Given the description of an element on the screen output the (x, y) to click on. 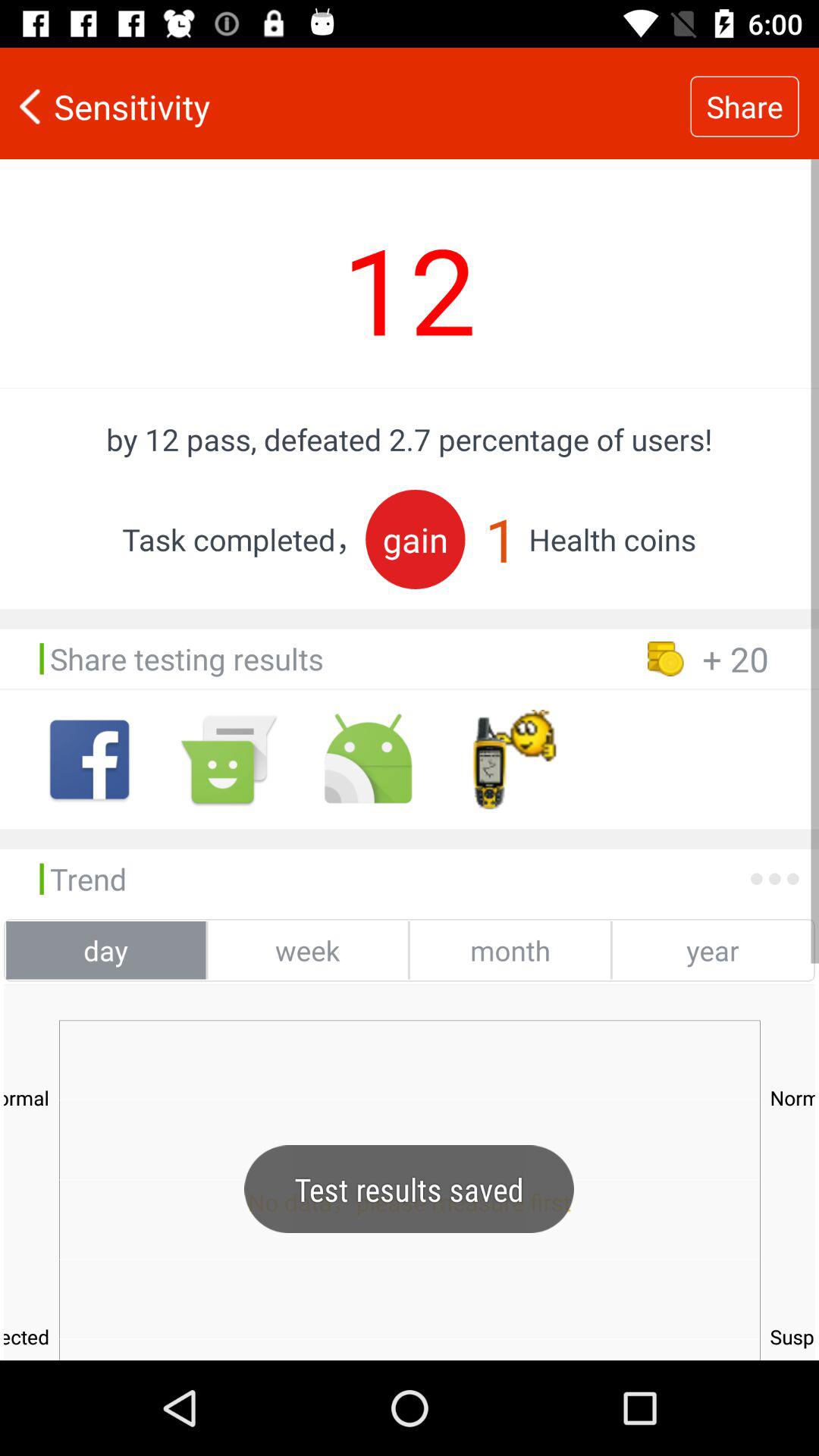
share on facebook (89, 759)
